Given the description of an element on the screen output the (x, y) to click on. 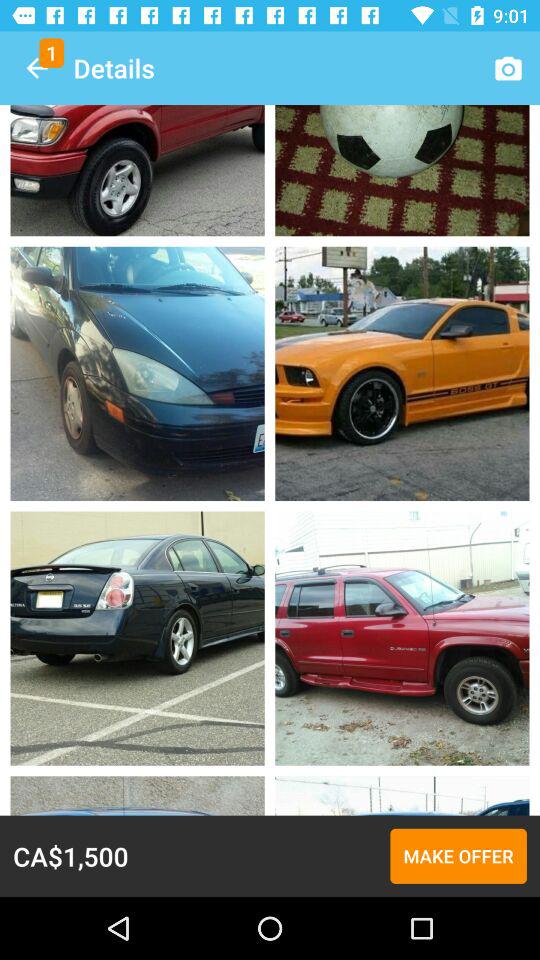
click the icon to the left of the details icon (36, 68)
